Given the description of an element on the screen output the (x, y) to click on. 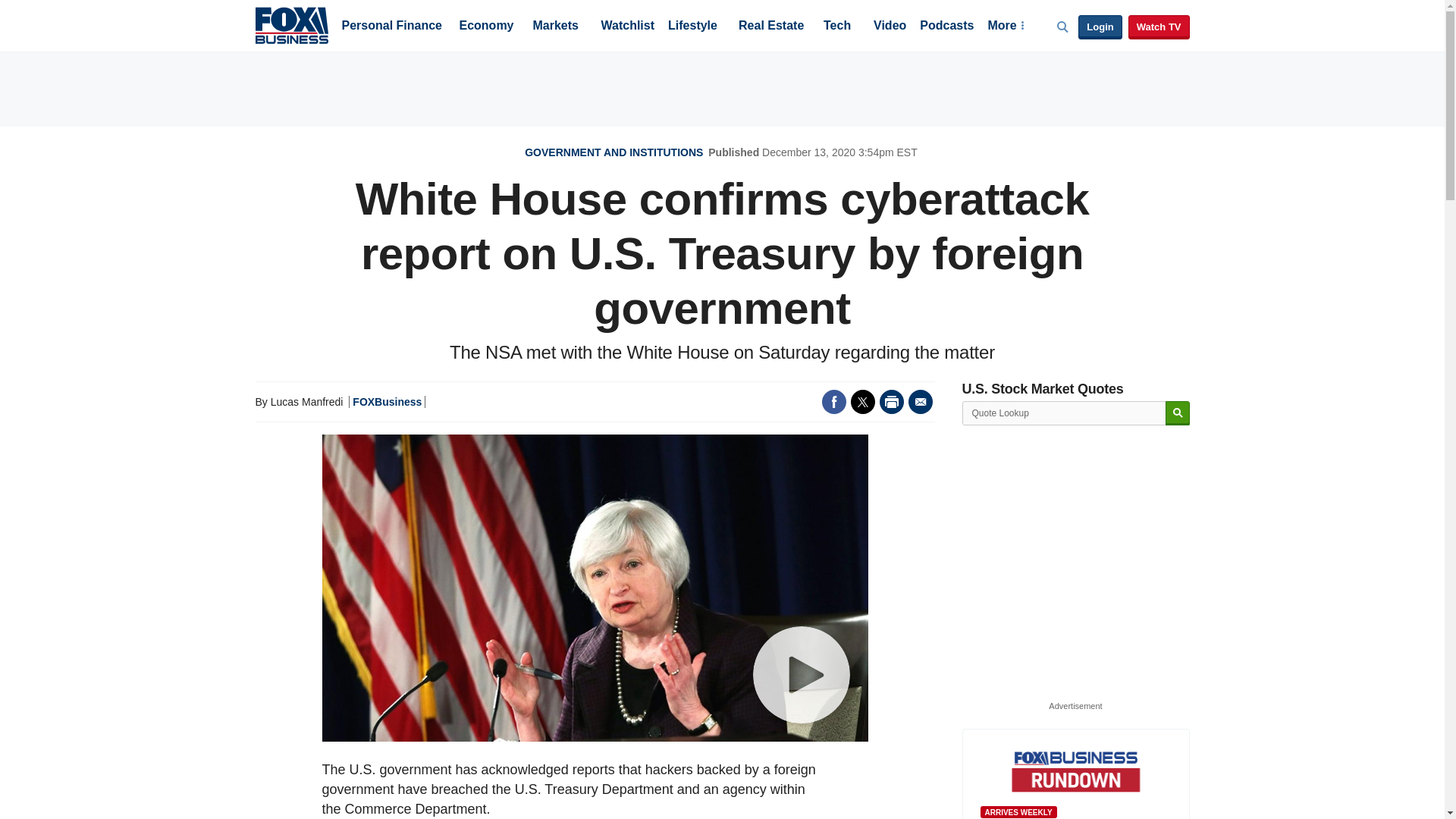
Personal Finance (391, 27)
Podcasts (947, 27)
Lifestyle (692, 27)
Tech (837, 27)
Watchlist (626, 27)
Search (1176, 413)
Markets (555, 27)
Economy (486, 27)
Watch TV (1158, 27)
Real Estate (770, 27)
